Given the description of an element on the screen output the (x, y) to click on. 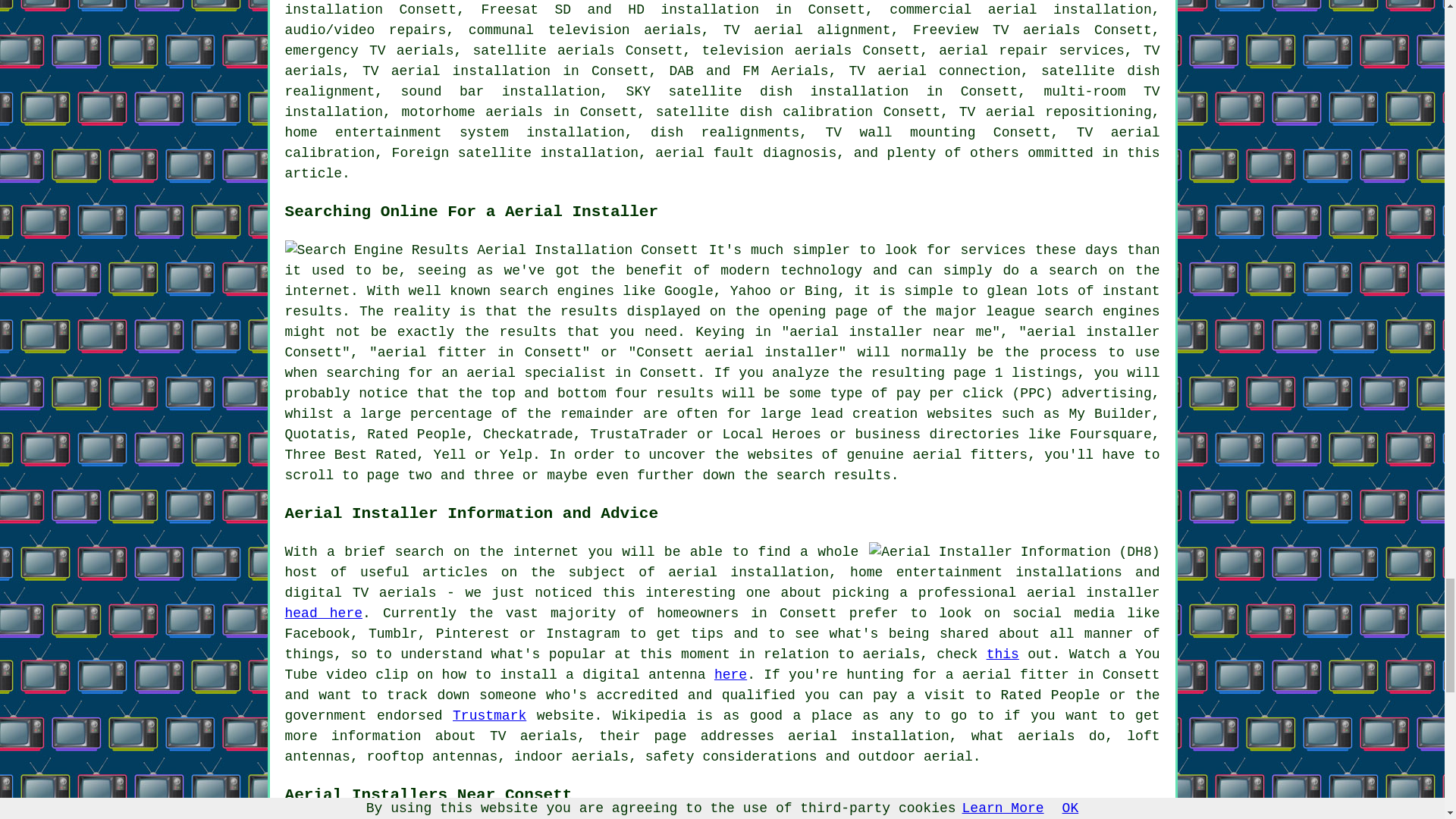
Search Engine Results Aerial Installation Consett (491, 250)
